Given the description of an element on the screen output the (x, y) to click on. 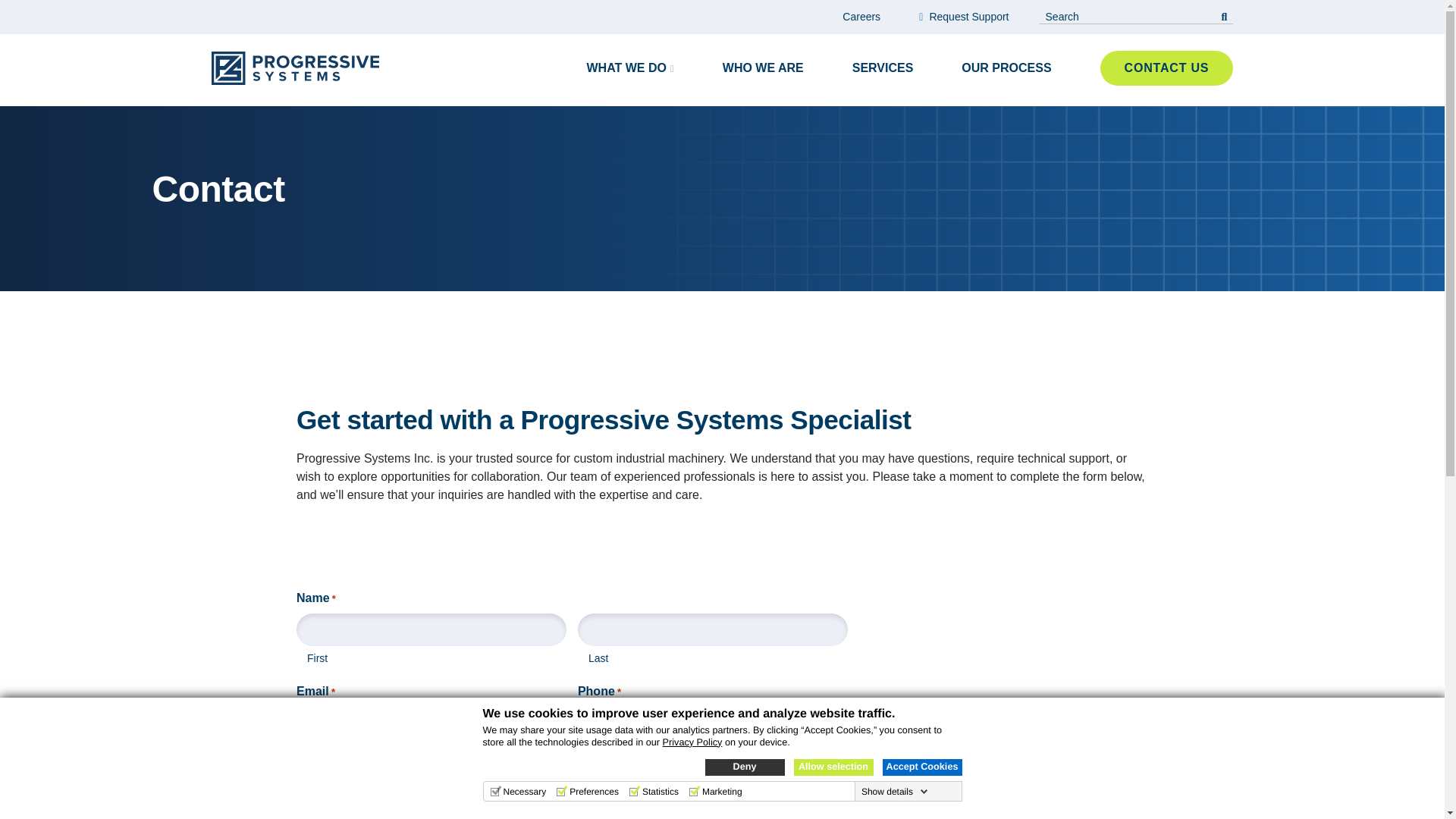
Allow selection (832, 767)
Privacy Policy (692, 742)
Careers (861, 17)
Accept Cookies (922, 767)
Show details (895, 791)
Deny (744, 767)
Request Support (963, 17)
